Given the description of an element on the screen output the (x, y) to click on. 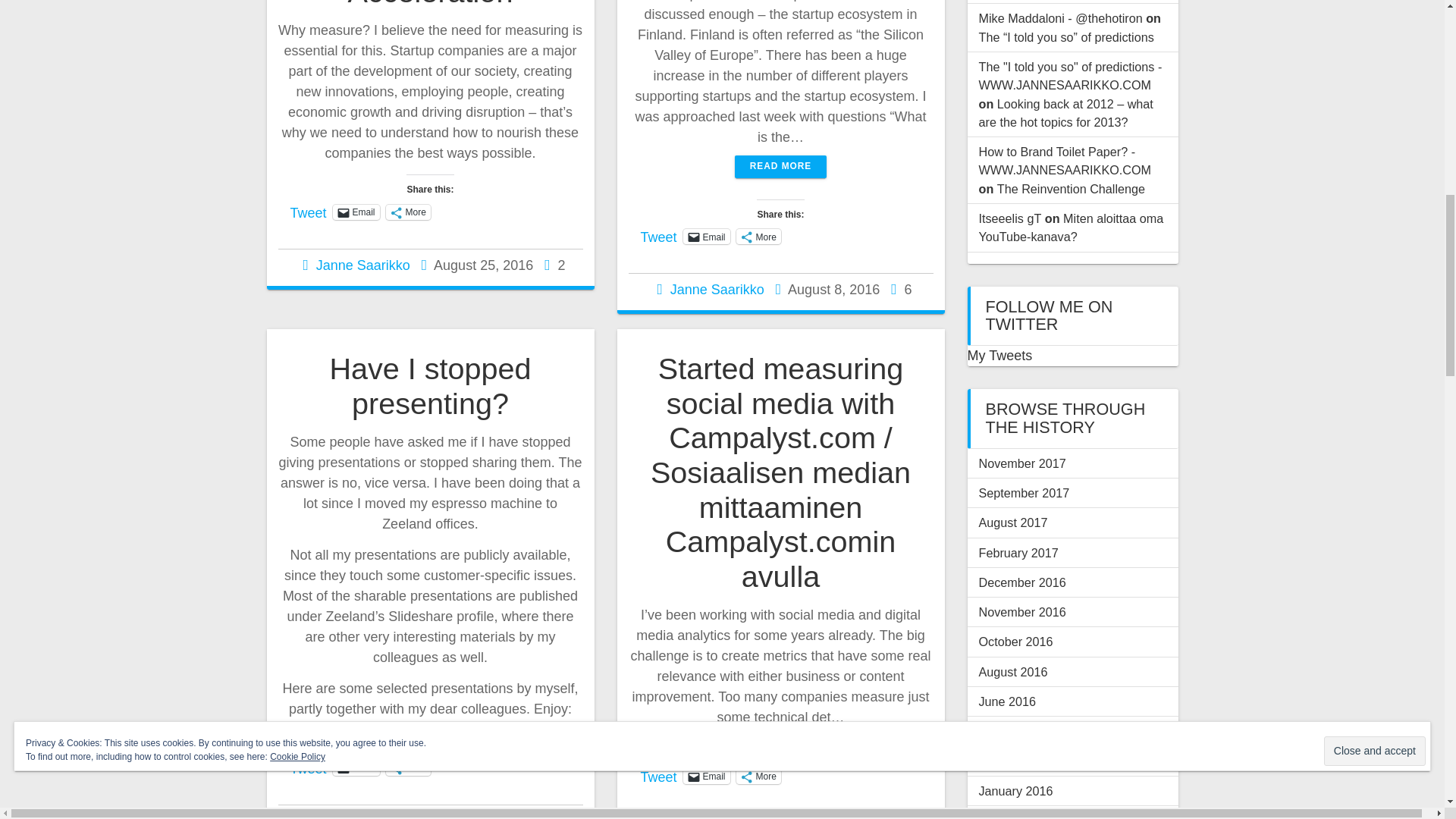
Click to email a link to a friend (356, 212)
Email (356, 212)
READ MORE (781, 166)
Email (356, 767)
Click to email a link to a friend (356, 767)
Janne Saarikko (716, 289)
Posts by Janne Saarikko (362, 264)
Tweet (307, 766)
Click to email a link to a friend (706, 776)
More (407, 212)
Tweet (658, 235)
Tweet (307, 211)
Posts by Janne Saarikko (373, 816)
Have I stopped presenting? (430, 386)
Janne Saarikko (362, 264)
